Given the description of an element on the screen output the (x, y) to click on. 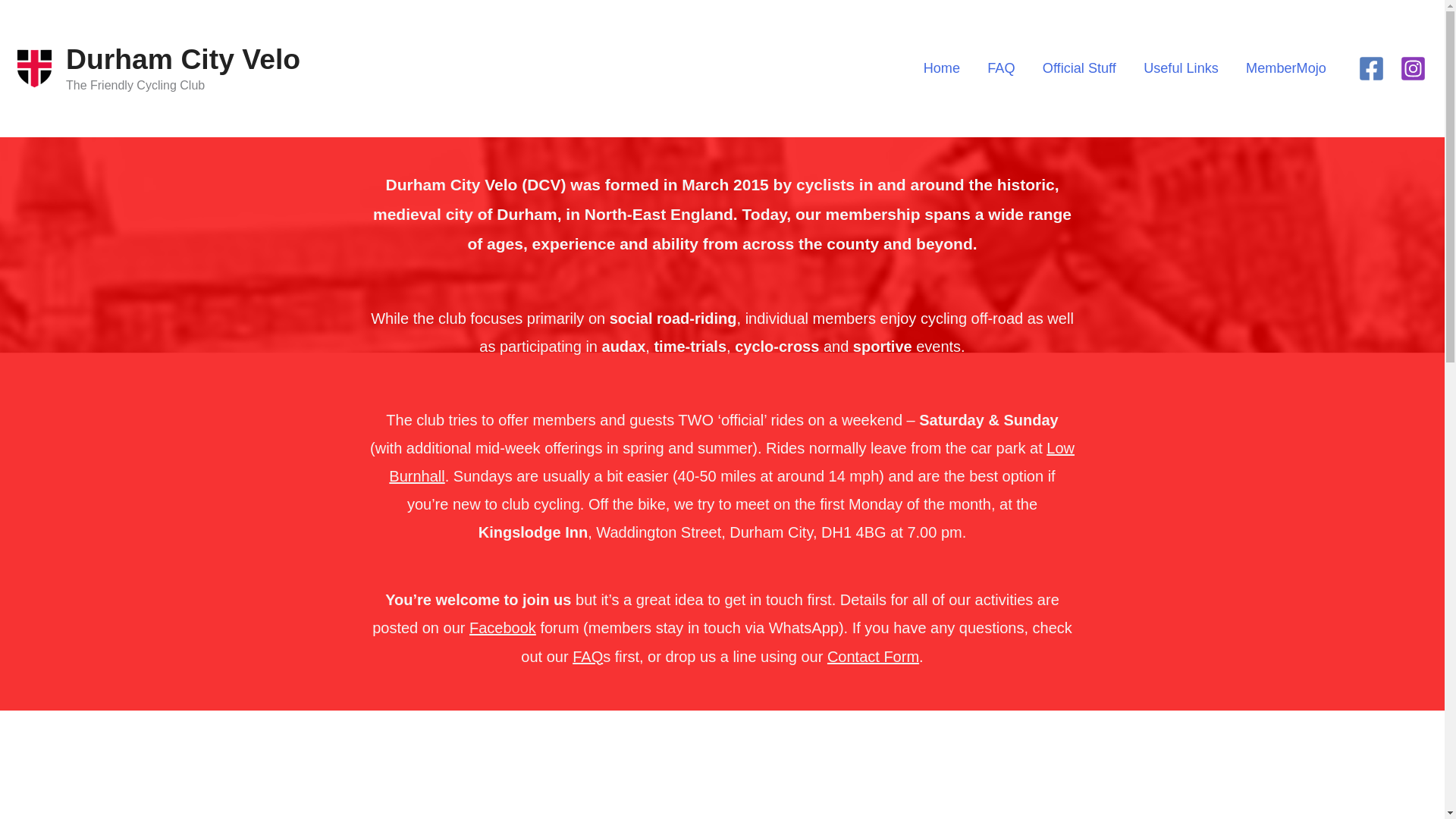
Low Burnhall (731, 461)
FAQ (587, 656)
MemberMojo (1285, 67)
Contact Form (872, 656)
Official Stuff (1079, 67)
Home (942, 67)
Facebook (501, 627)
Durham City Velo (182, 59)
Useful Links (1180, 67)
FAQ (1001, 67)
Google Map for  (593, 807)
